Given the description of an element on the screen output the (x, y) to click on. 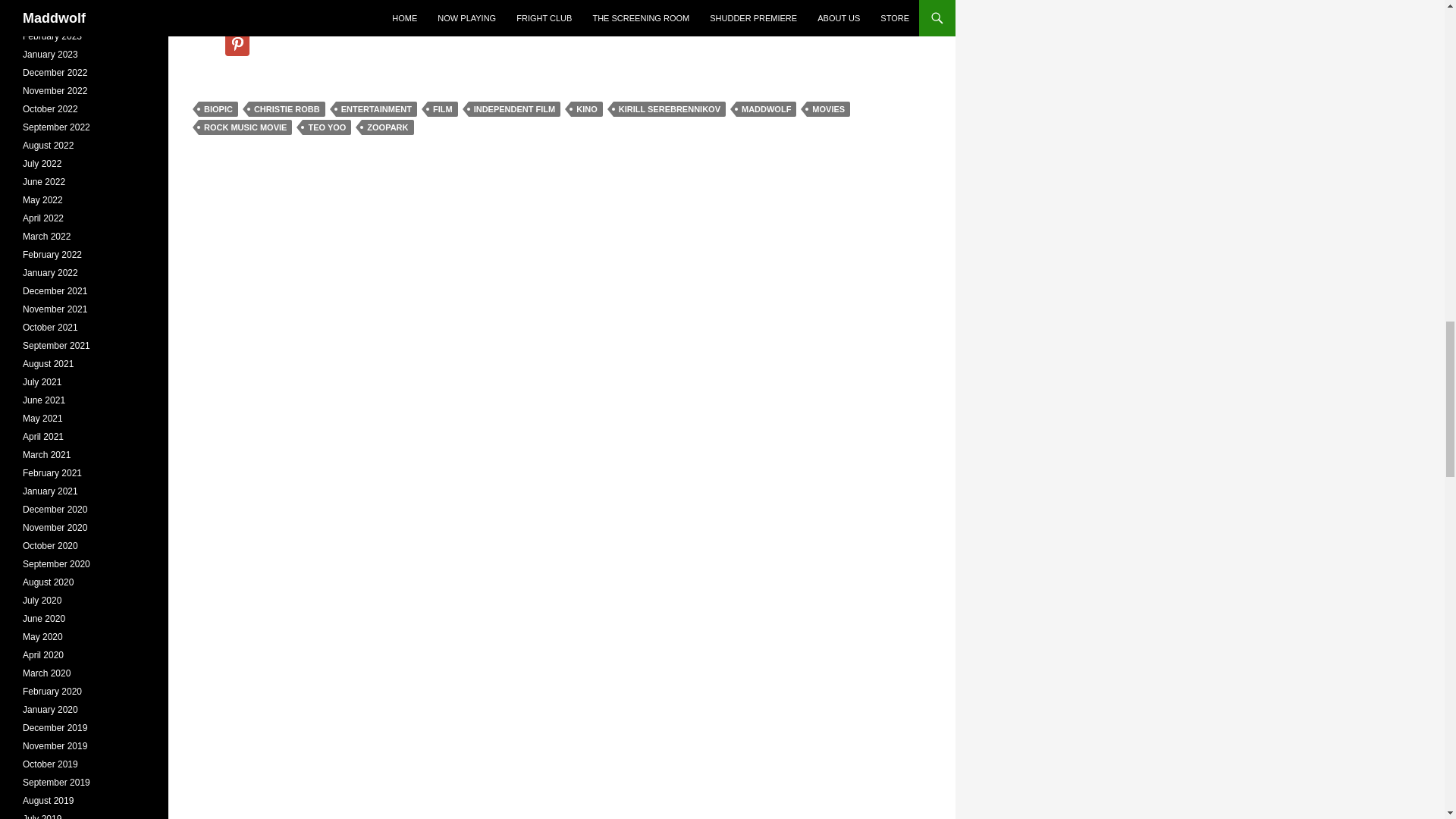
ENTERTAINMENT (376, 109)
KIRILL SEREBRENNIKOV (668, 109)
KINO (586, 109)
TEO YOO (326, 127)
FILM (443, 109)
INDEPENDENT FILM (514, 109)
BIOPIC (218, 109)
ZOOPARK (387, 127)
CHRISTIE ROBB (286, 109)
MOVIES (828, 109)
